Given the description of an element on the screen output the (x, y) to click on. 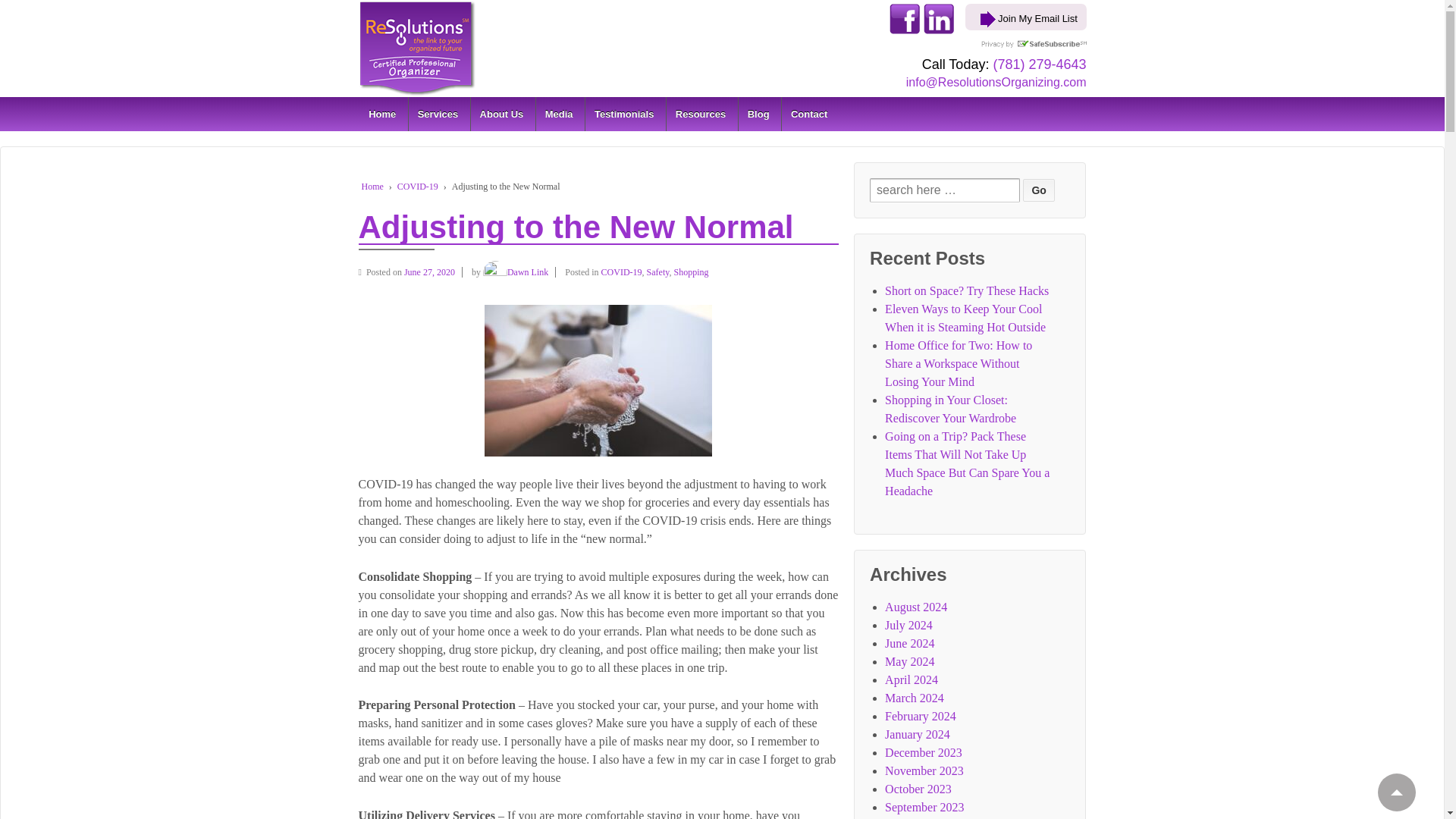
Blog (757, 114)
Home (371, 185)
Home (381, 114)
Go (1038, 190)
Media (557, 114)
Shopping in Your Closet: Rediscover Your Wardrobe (950, 409)
Adjusting to the New Normal (433, 271)
Services (437, 114)
Dawn Link (515, 271)
